Given the description of an element on the screen output the (x, y) to click on. 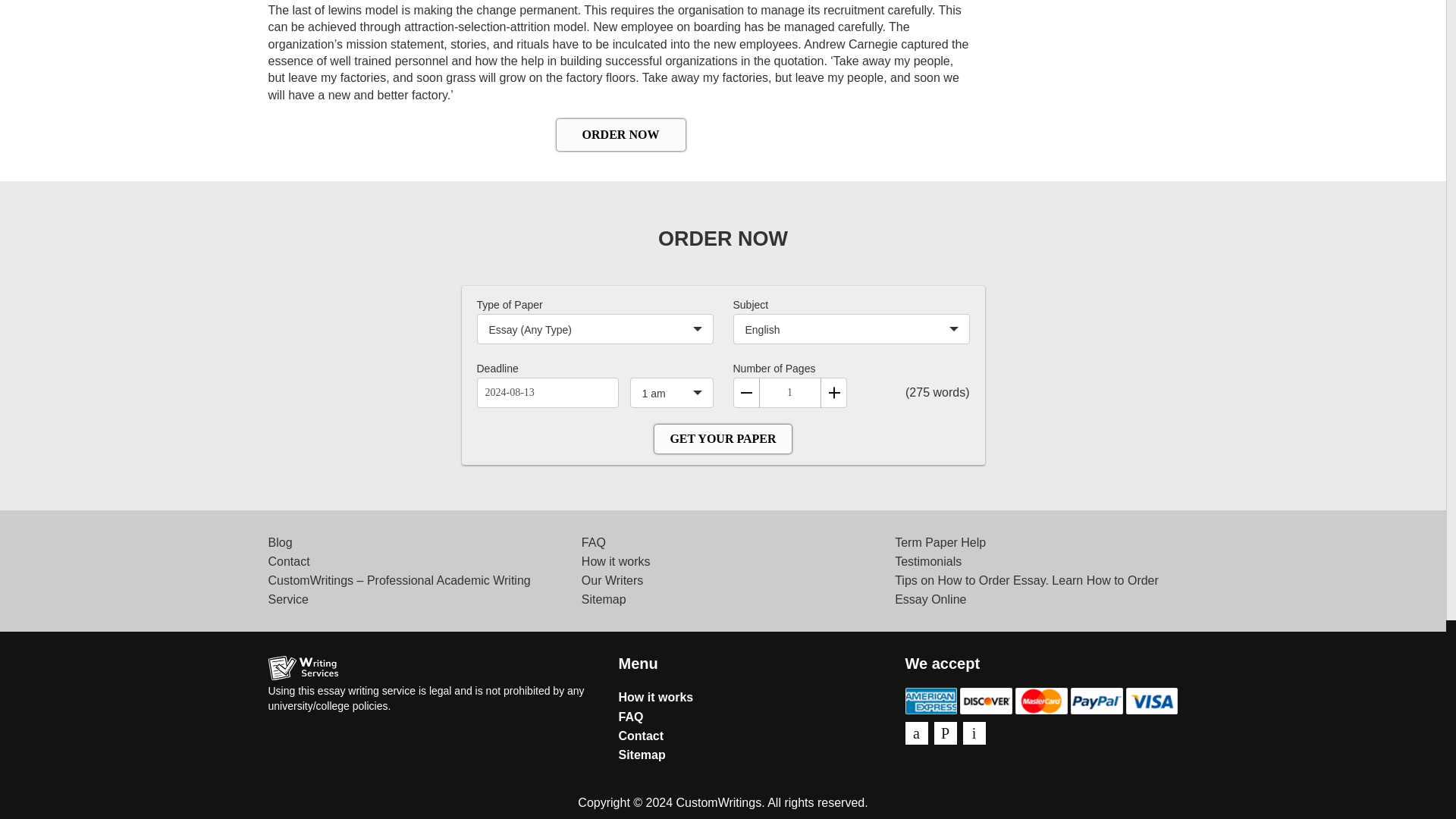
Tips on How to Order Essay. Learn How to Order Essay Online (1026, 590)
FAQ (592, 542)
Term Paper Help (940, 542)
Blog (279, 542)
1 (788, 392)
Testimonials (927, 561)
How it works (656, 697)
Sitemap (603, 599)
ORDER NOW (620, 134)
Get your paper (721, 439)
Our Writers (611, 580)
2024-08-13 (546, 392)
Get your paper (721, 439)
Contact (288, 561)
How it works (615, 561)
